Given the description of an element on the screen output the (x, y) to click on. 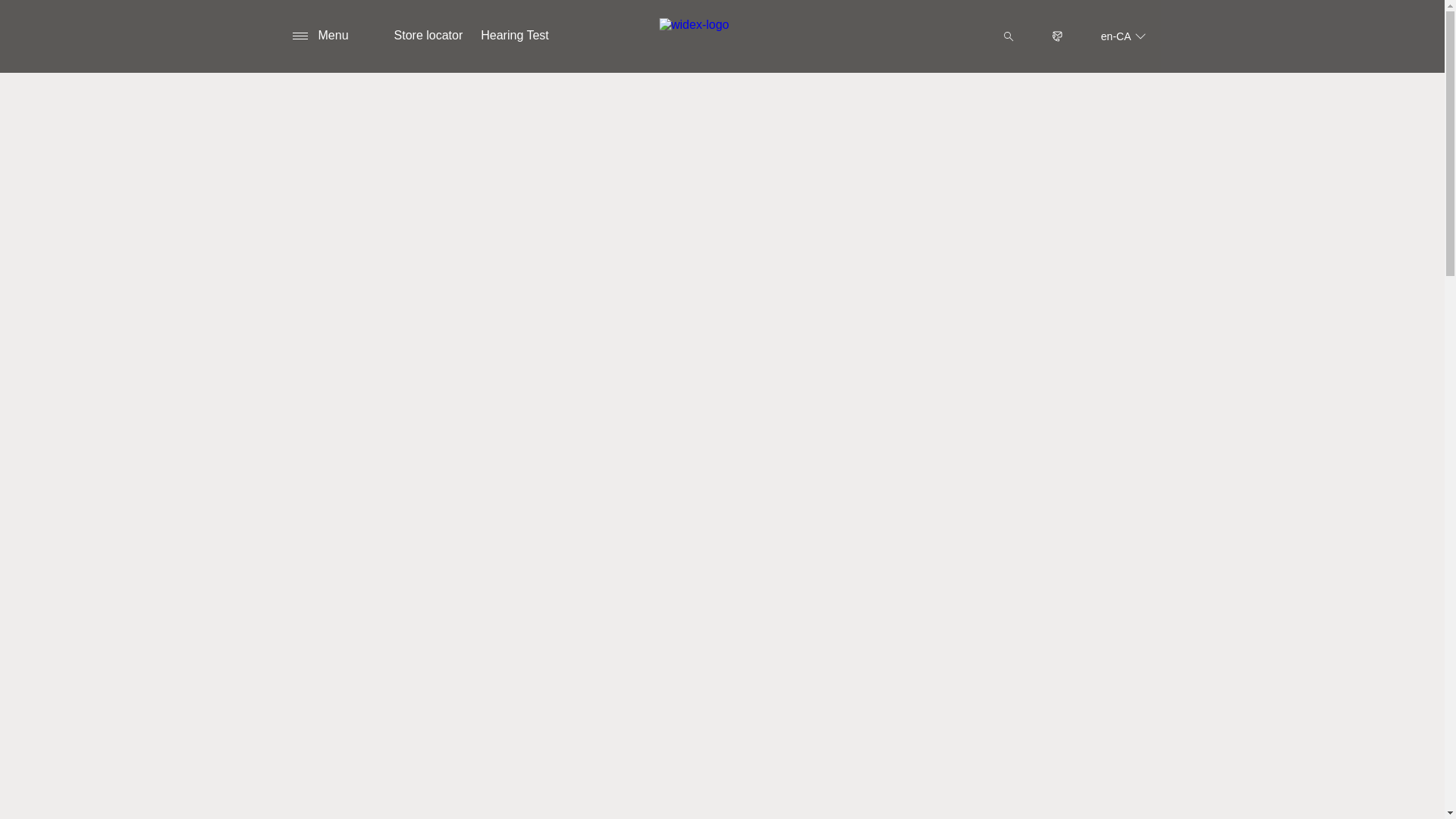
Store locator (428, 35)
Menu (320, 36)
en-CA (1123, 36)
Hearing Test (514, 35)
